Given the description of an element on the screen output the (x, y) to click on. 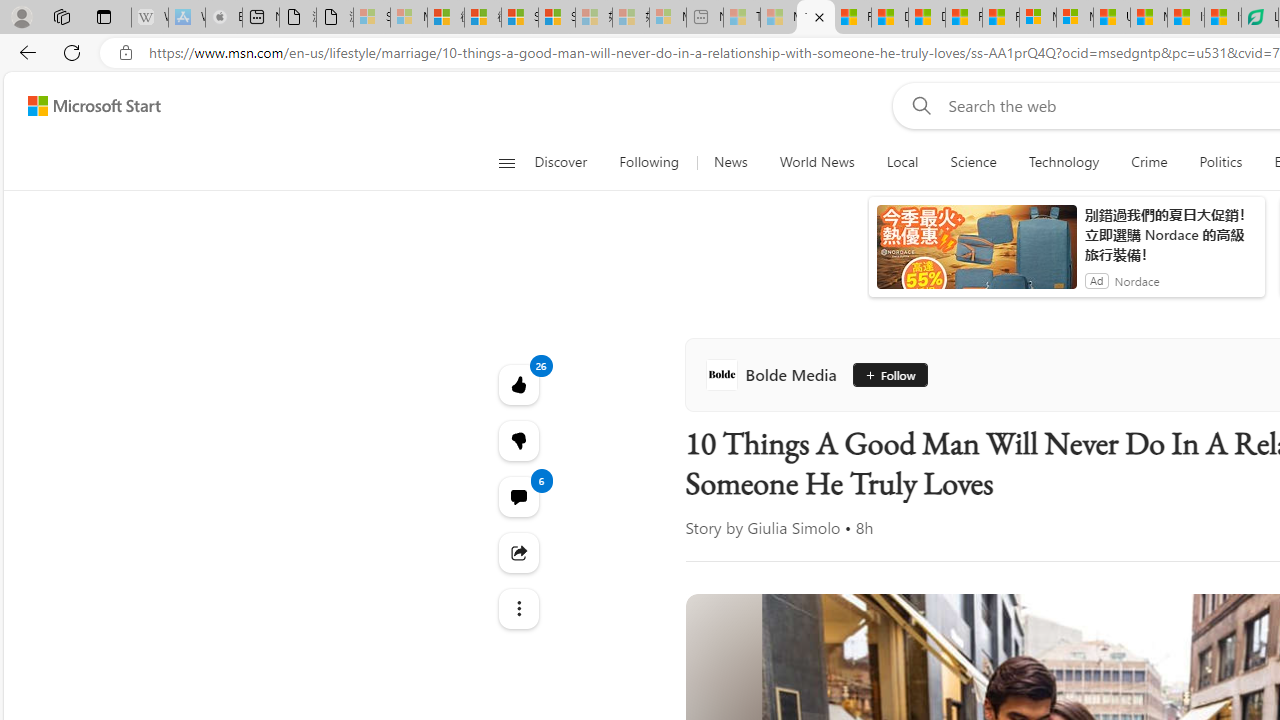
Wikipedia - Sleeping (149, 17)
Discover (568, 162)
US Heat Deaths Soared To Record High Last Year (1112, 17)
Marine life - MSN - Sleeping (779, 17)
Open navigation menu (506, 162)
Politics (1220, 162)
Ad (1096, 280)
Top Stories - MSN - Sleeping (742, 17)
Discover (560, 162)
Following (649, 162)
Local (902, 162)
